Given the description of an element on the screen output the (x, y) to click on. 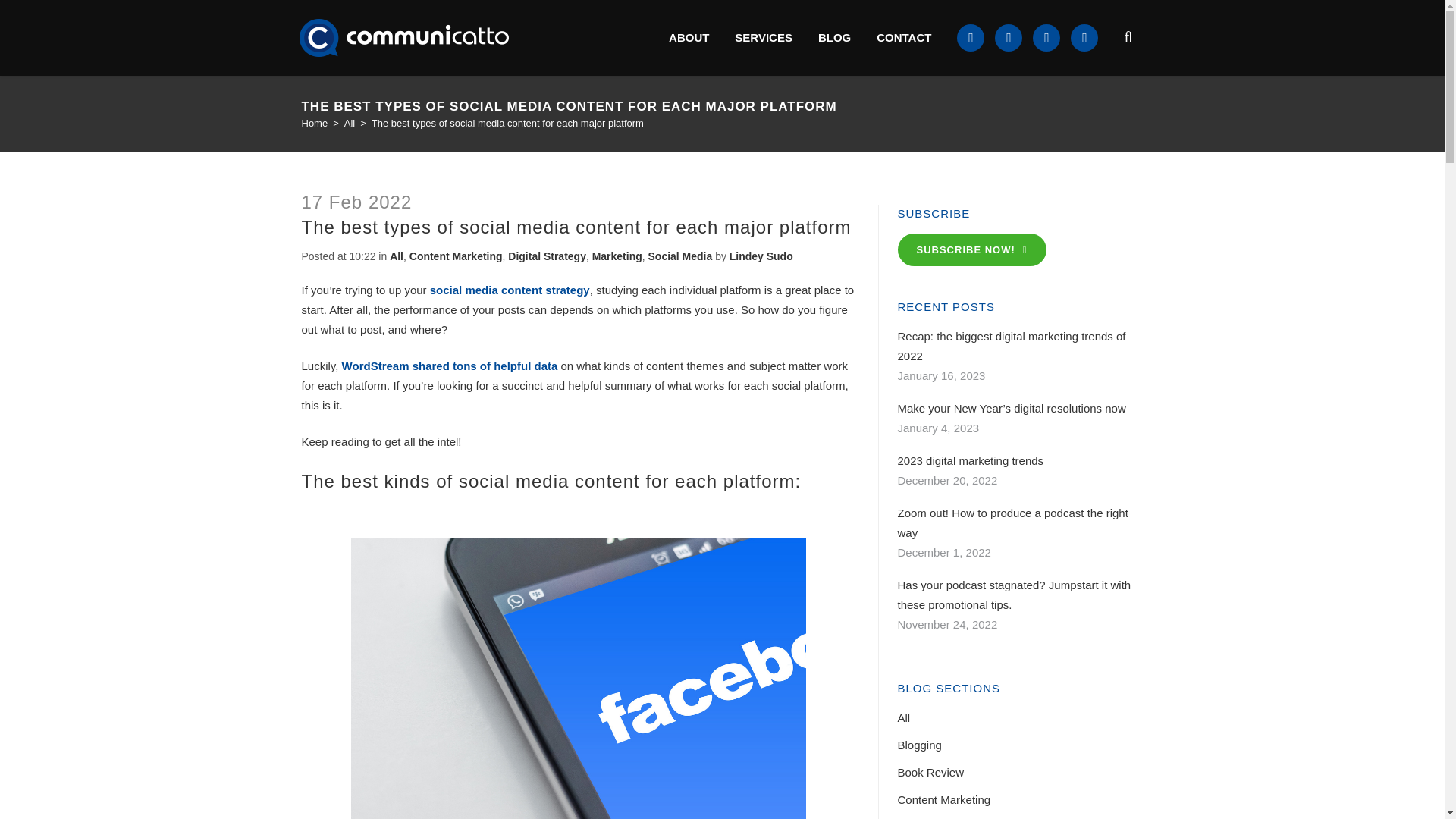
SERVICES (763, 37)
social media content strategy (509, 289)
FACEBOOK (1045, 37)
All (349, 122)
WordStream shared tons of helpful data (449, 365)
COMMUNICATTO (404, 37)
TWITTER (1008, 37)
Digital Strategy (547, 256)
INSTAGRAM (1083, 37)
BLOG (834, 37)
Home (315, 122)
Social Media (680, 256)
Lindey Sudo (761, 256)
Marketing (617, 256)
Posts by Lindey Sudo (761, 256)
